Given the description of an element on the screen output the (x, y) to click on. 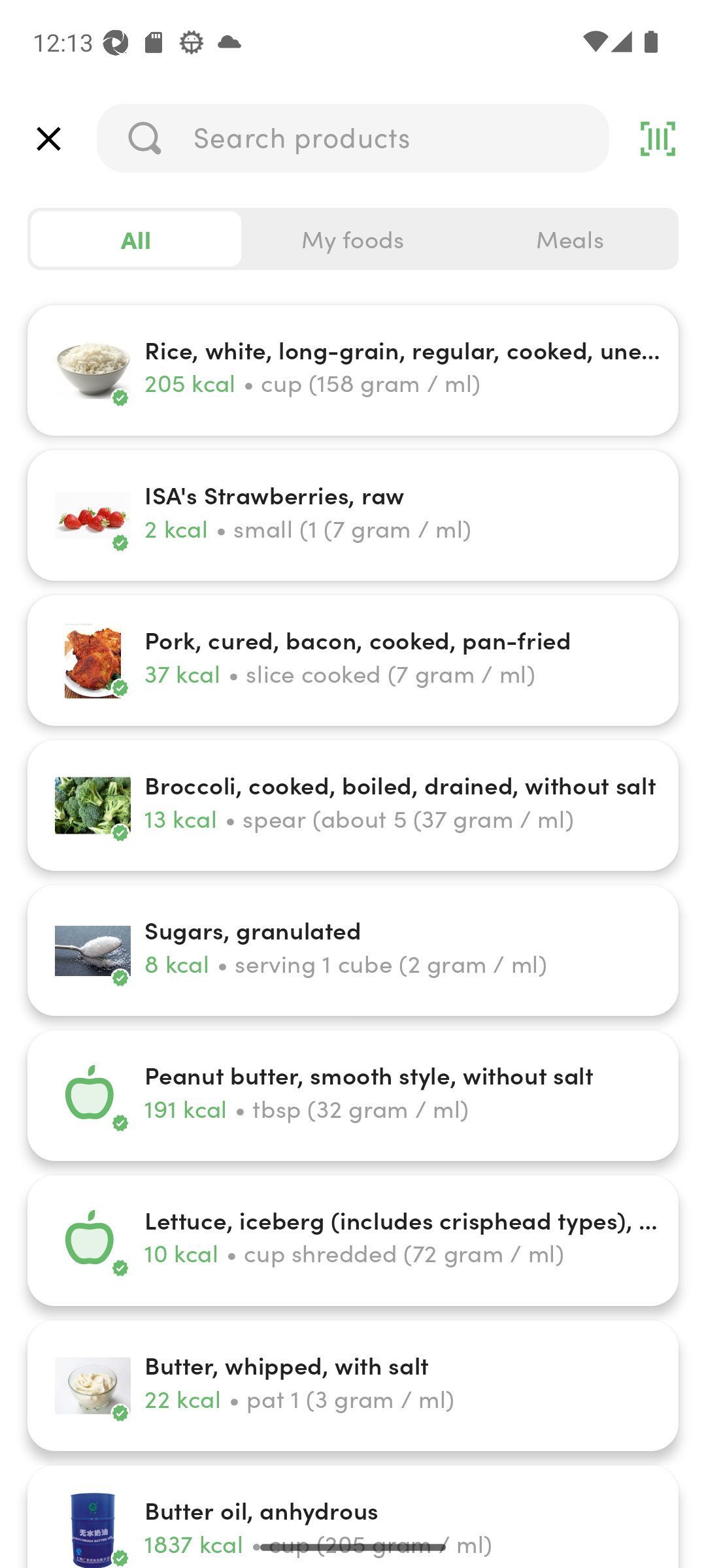
top_left_action (48, 138)
top_right_action (658, 138)
My foods (352, 238)
Meals (569, 238)
